Given the description of an element on the screen output the (x, y) to click on. 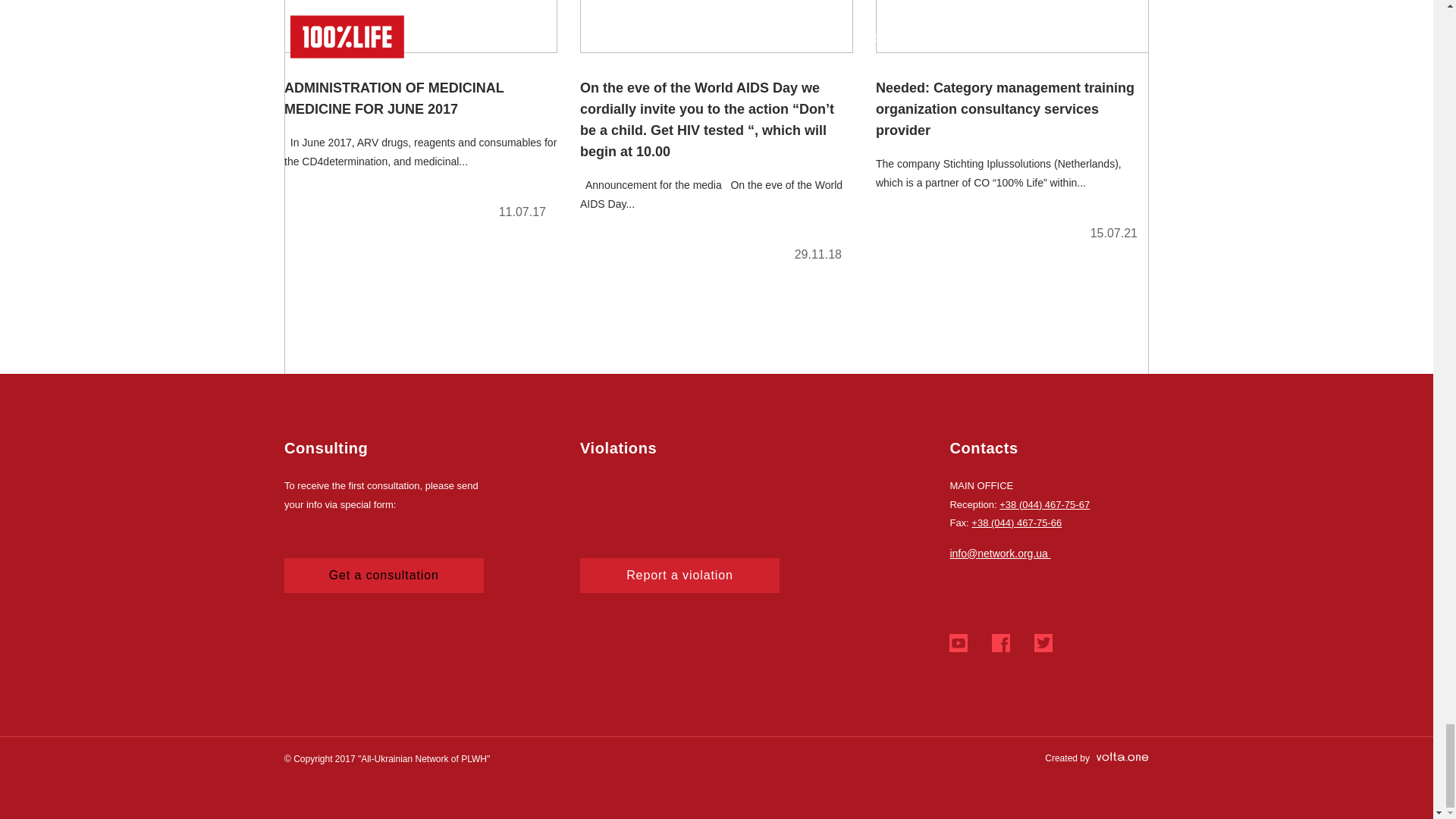
Report a violation (678, 574)
Created by (1096, 757)
Get a consultation (383, 574)
ADMINISTRATION OF MEDICINAL MEDICINE FOR JUNE 2017 (420, 116)
Report a violation (678, 574)
Get a consultation (383, 574)
